Given the description of an element on the screen output the (x, y) to click on. 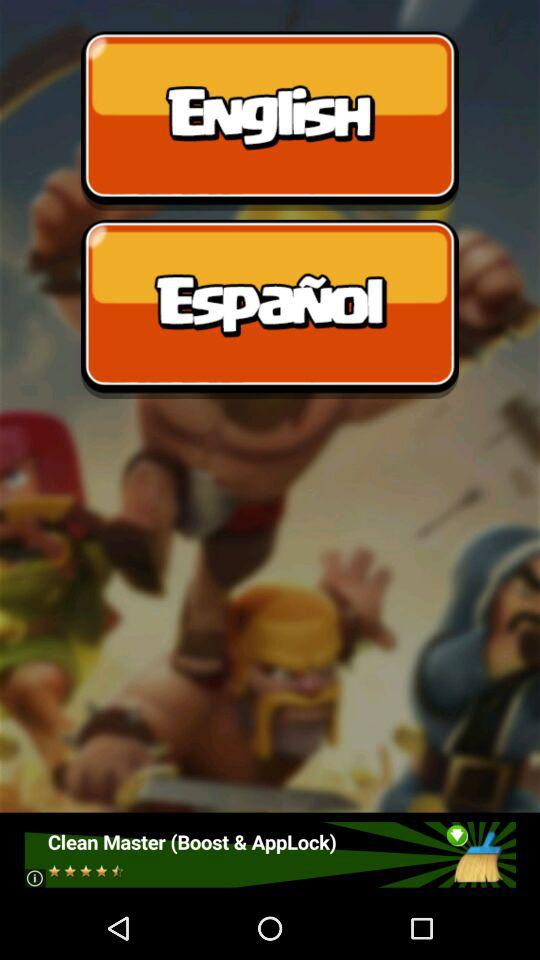
select spanish language (270, 309)
